Given the description of an element on the screen output the (x, y) to click on. 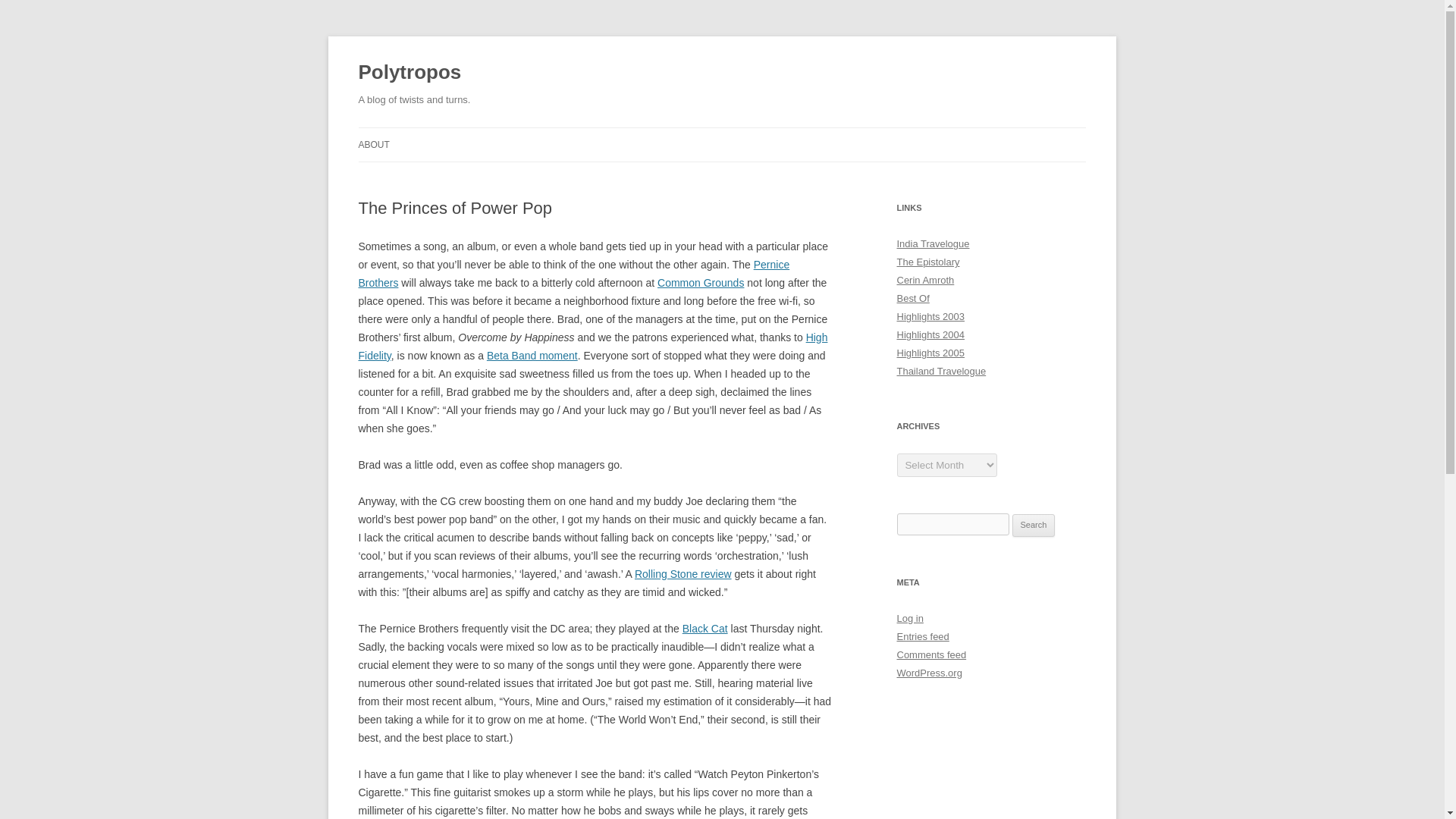
Pernice Brothers (573, 273)
Rolling Stone review (683, 573)
Search (1033, 525)
Best Of (912, 297)
Cerin Amroth (924, 279)
Polytropos (409, 72)
Comments feed (931, 654)
ABOUT (373, 144)
WordPress.org (928, 672)
High Fidelity (592, 346)
